Given the description of an element on the screen output the (x, y) to click on. 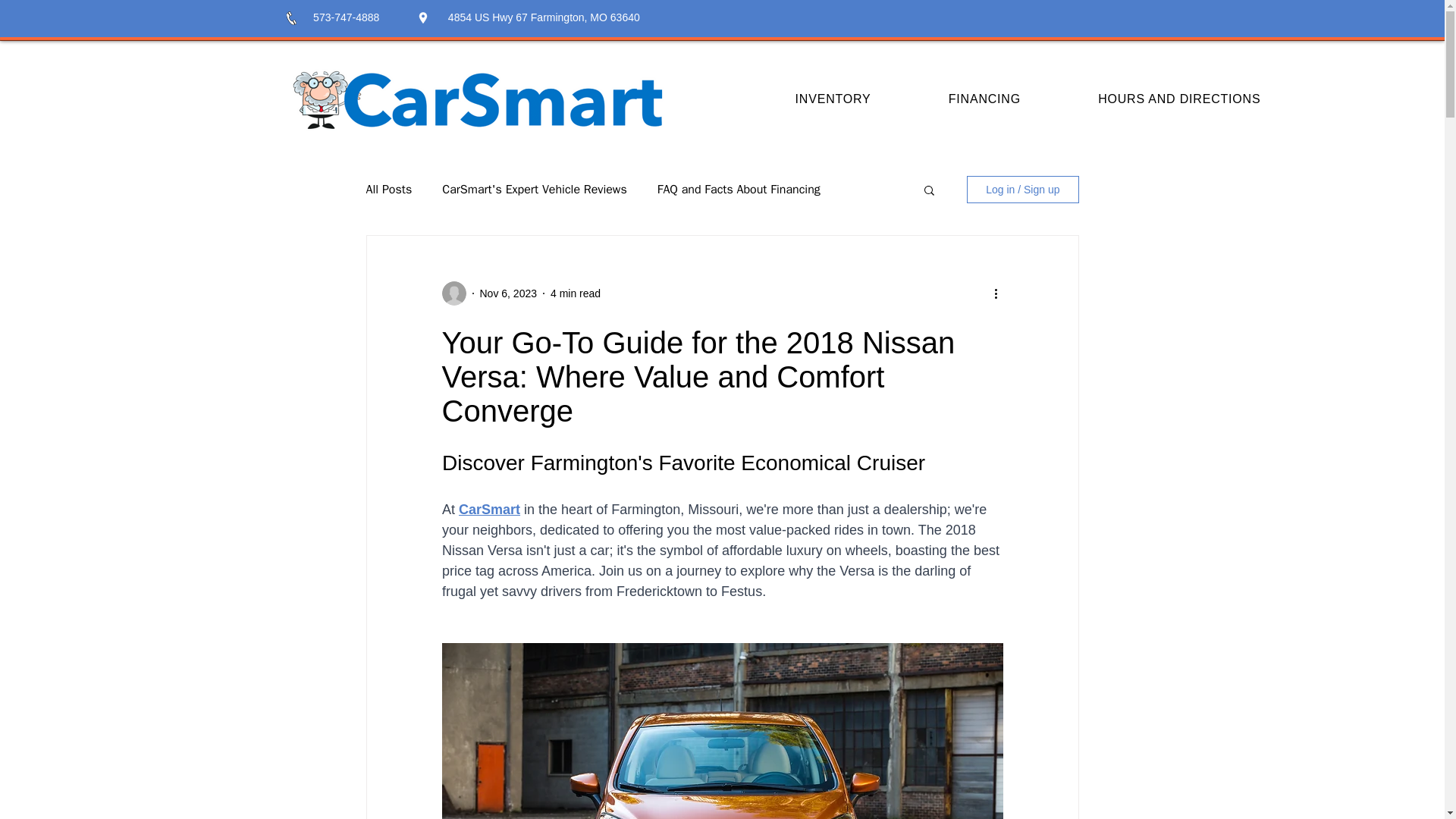
logo.png (476, 99)
FAQ and Facts About Financing (739, 189)
CarSmart (488, 509)
FINANCING (984, 99)
All Posts (388, 189)
INVENTORY (833, 99)
Nov 6, 2023 (508, 292)
CarSmart's Expert Vehicle Reviews (534, 189)
HOURS AND DIRECTIONS (1178, 99)
4 min read (574, 292)
